Given the description of an element on the screen output the (x, y) to click on. 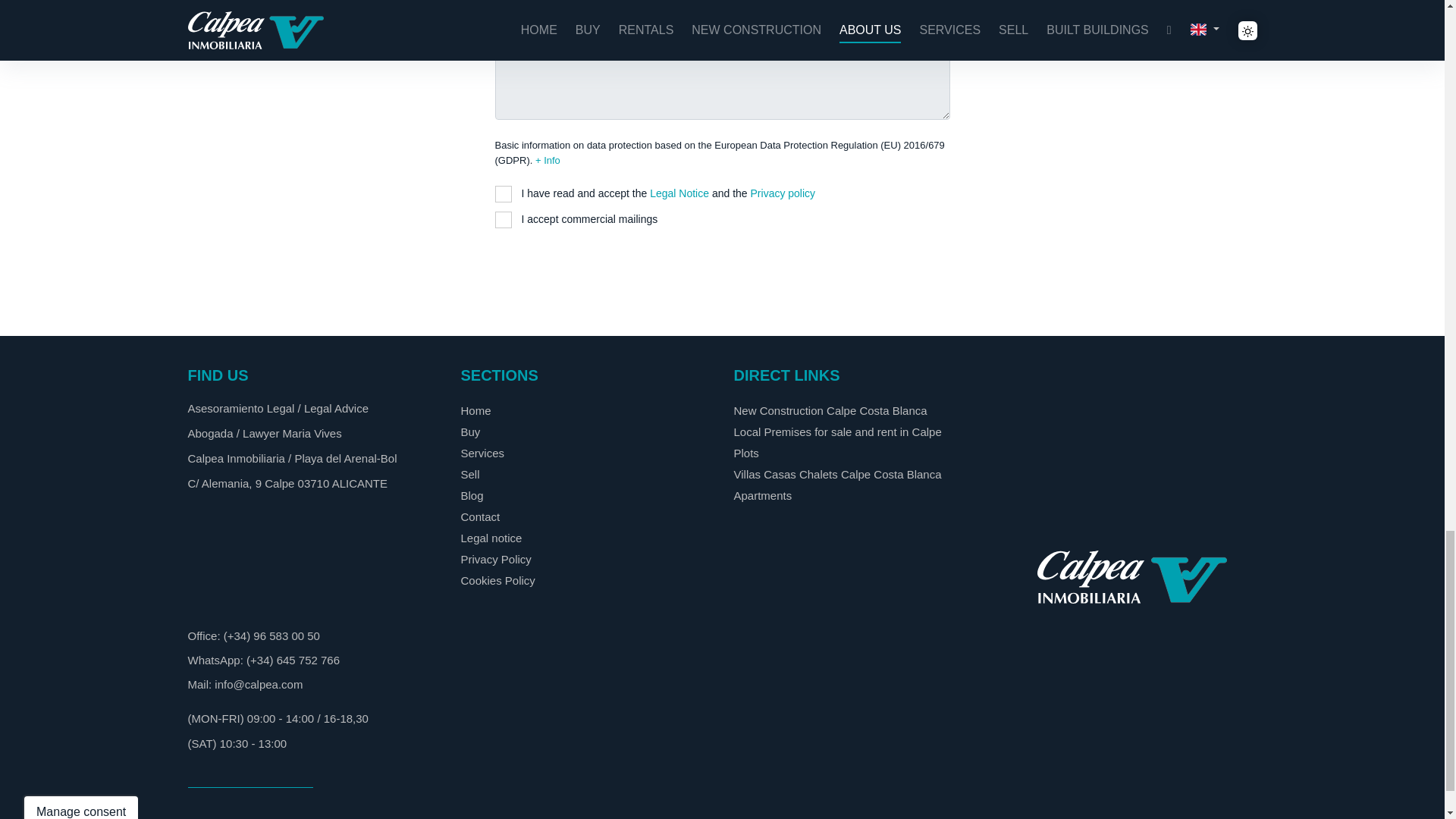
Privacy policy (783, 193)
Services (483, 452)
Contact (480, 516)
Home (476, 410)
Cookies Policy (498, 580)
Sell (470, 473)
Legal notice (491, 537)
Blog (472, 495)
Legal Notice (679, 193)
Privacy Policy (496, 558)
Buy (470, 431)
